Given the description of an element on the screen output the (x, y) to click on. 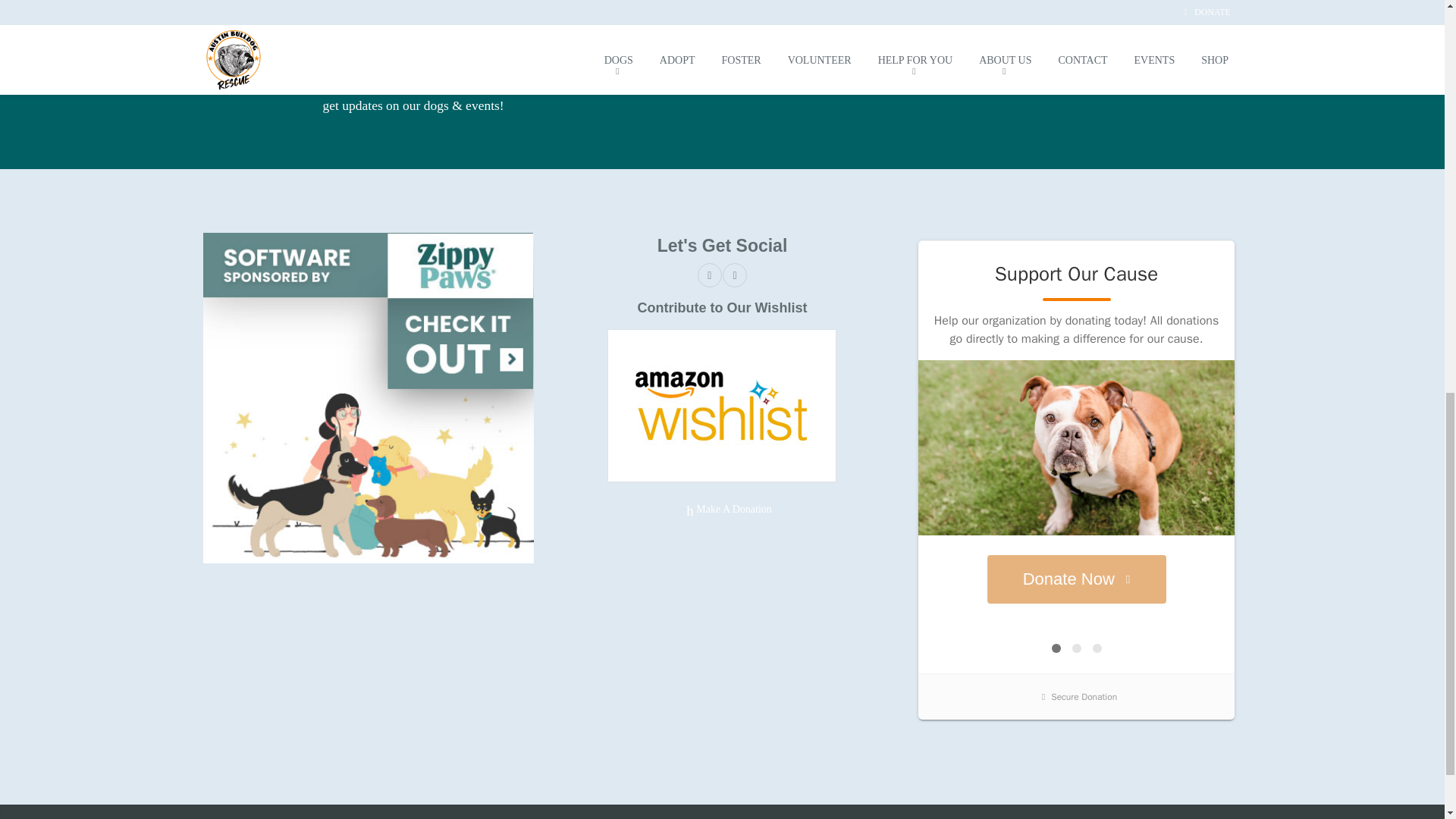
Amazon Wishlist (721, 405)
Submit (755, 77)
Austin Bulldog Rescue's Sponsor (368, 396)
Follow Us on Instagram (734, 274)
Make A Donation (721, 509)
Follow Us on Facebook (709, 274)
